Given the description of an element on the screen output the (x, y) to click on. 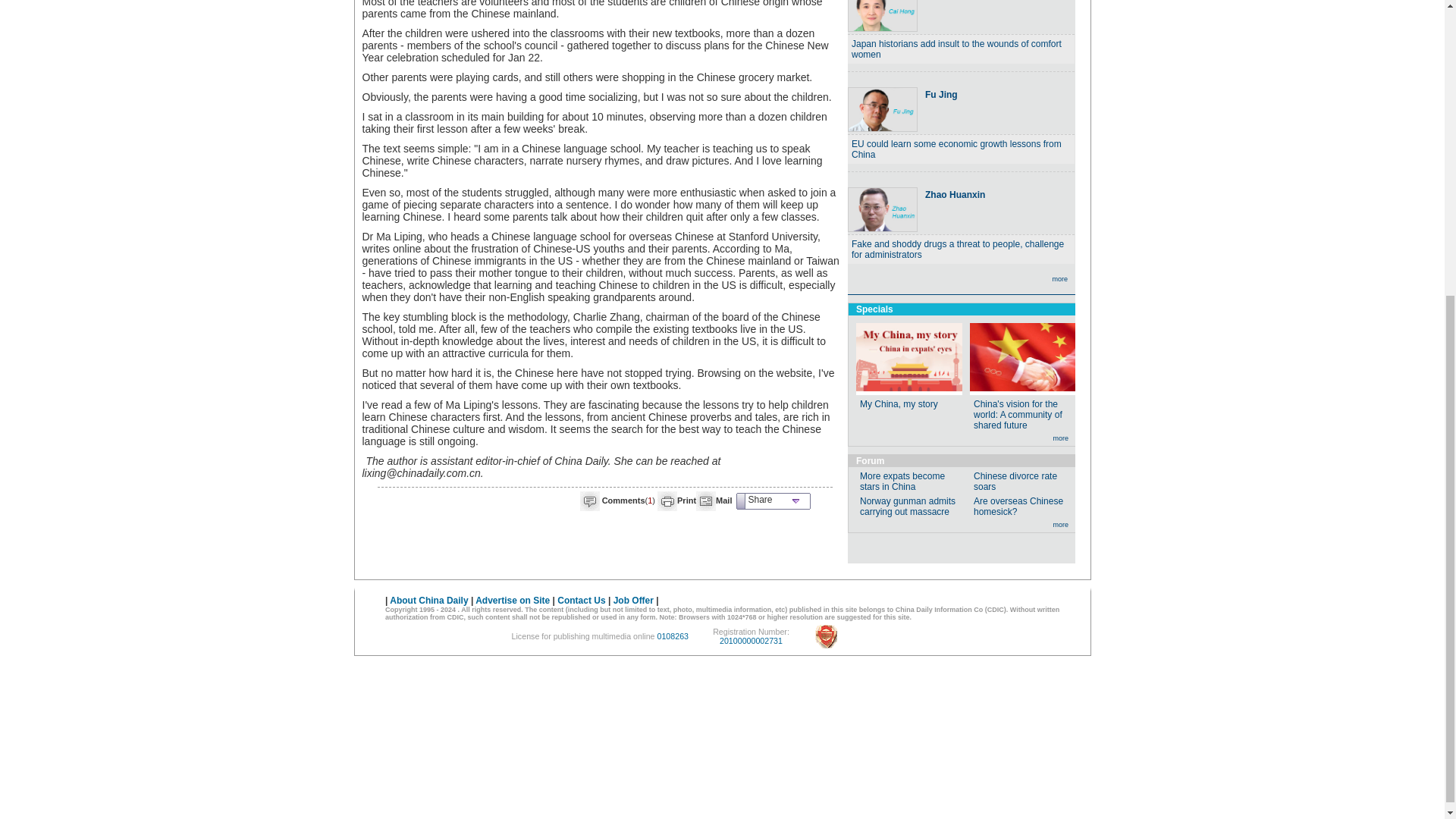
Print (686, 500)
Mail (724, 500)
Share (772, 501)
